Given the description of an element on the screen output the (x, y) to click on. 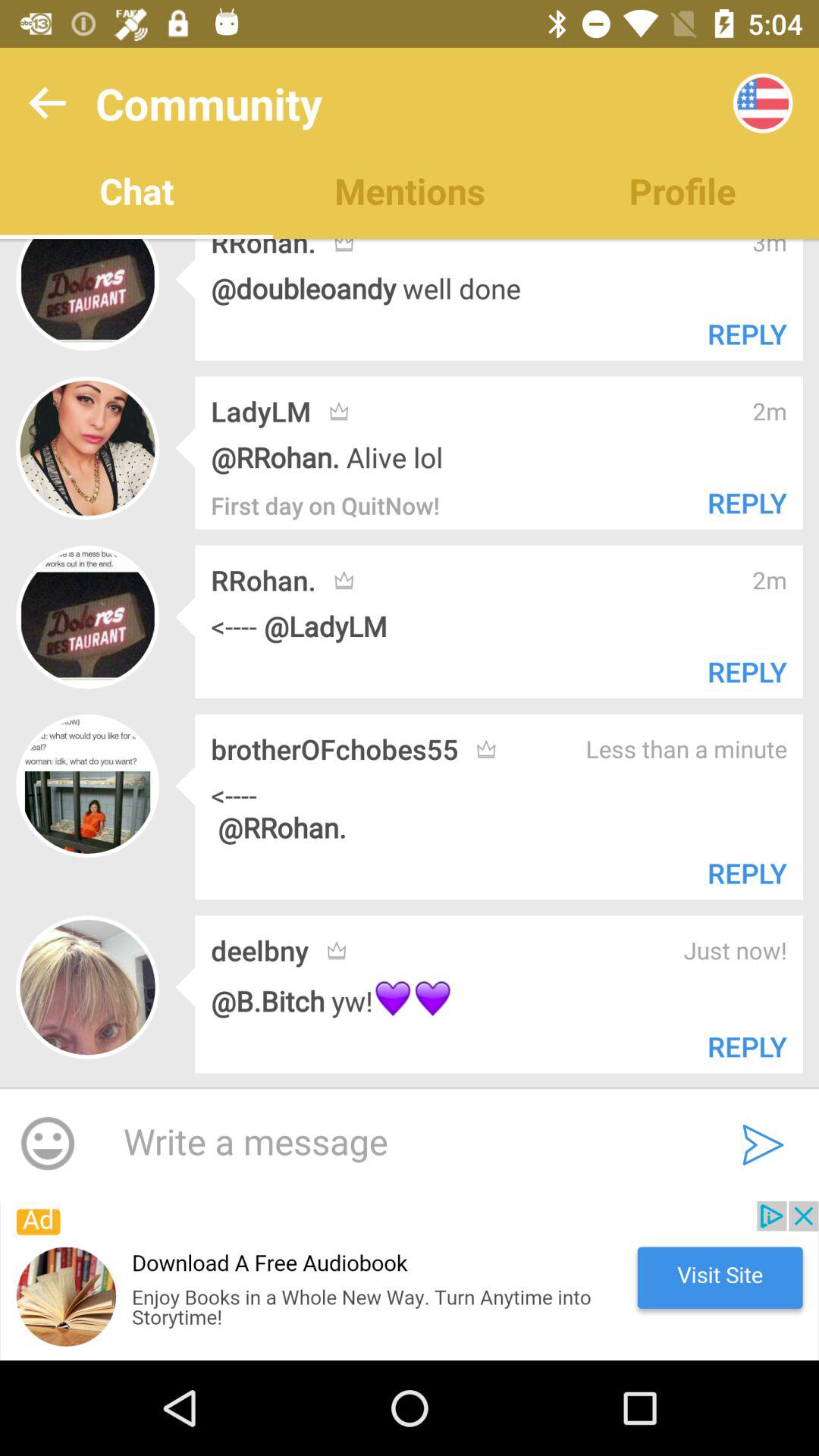
go to advertisement (409, 1280)
